Given the description of an element on the screen output the (x, y) to click on. 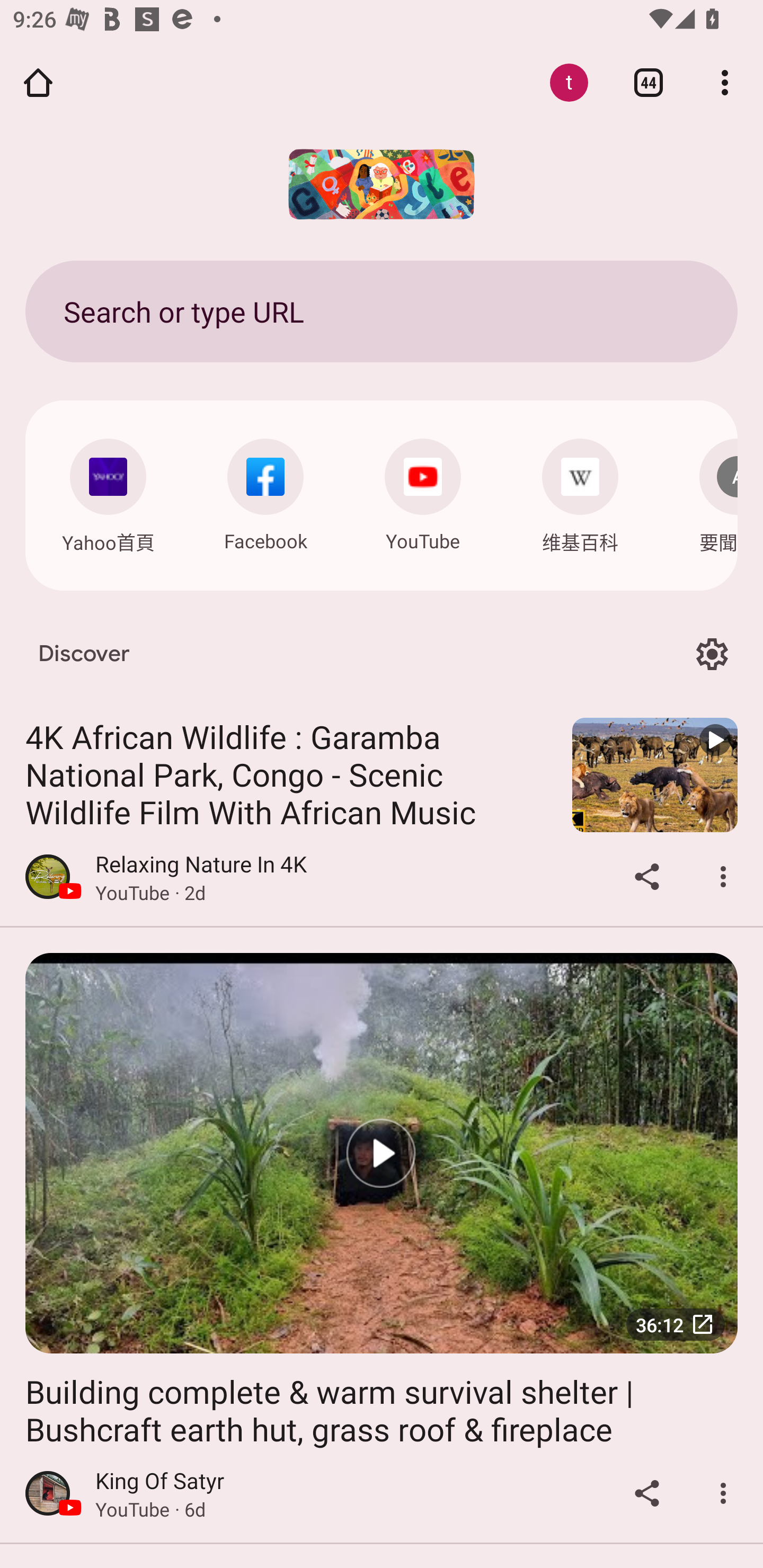
Open the home page (38, 82)
Switch or close tabs (648, 82)
Customize and control Google Chrome (724, 82)
Google doodle: 2024 年国际妇女节 (381, 183)
Search or type URL (381, 311)
Navigate: Yahoo首頁: hk.mobi.yahoo.com Yahoo首頁 (107, 491)
Navigate: Facebook: m.facebook.com Facebook (265, 490)
Navigate: YouTube: m.youtube.com YouTube (422, 490)
Navigate: 维基百科: zh.m.wikipedia.org 维基百科 (579, 491)
Options for Discover (711, 654)
